Given the description of an element on the screen output the (x, y) to click on. 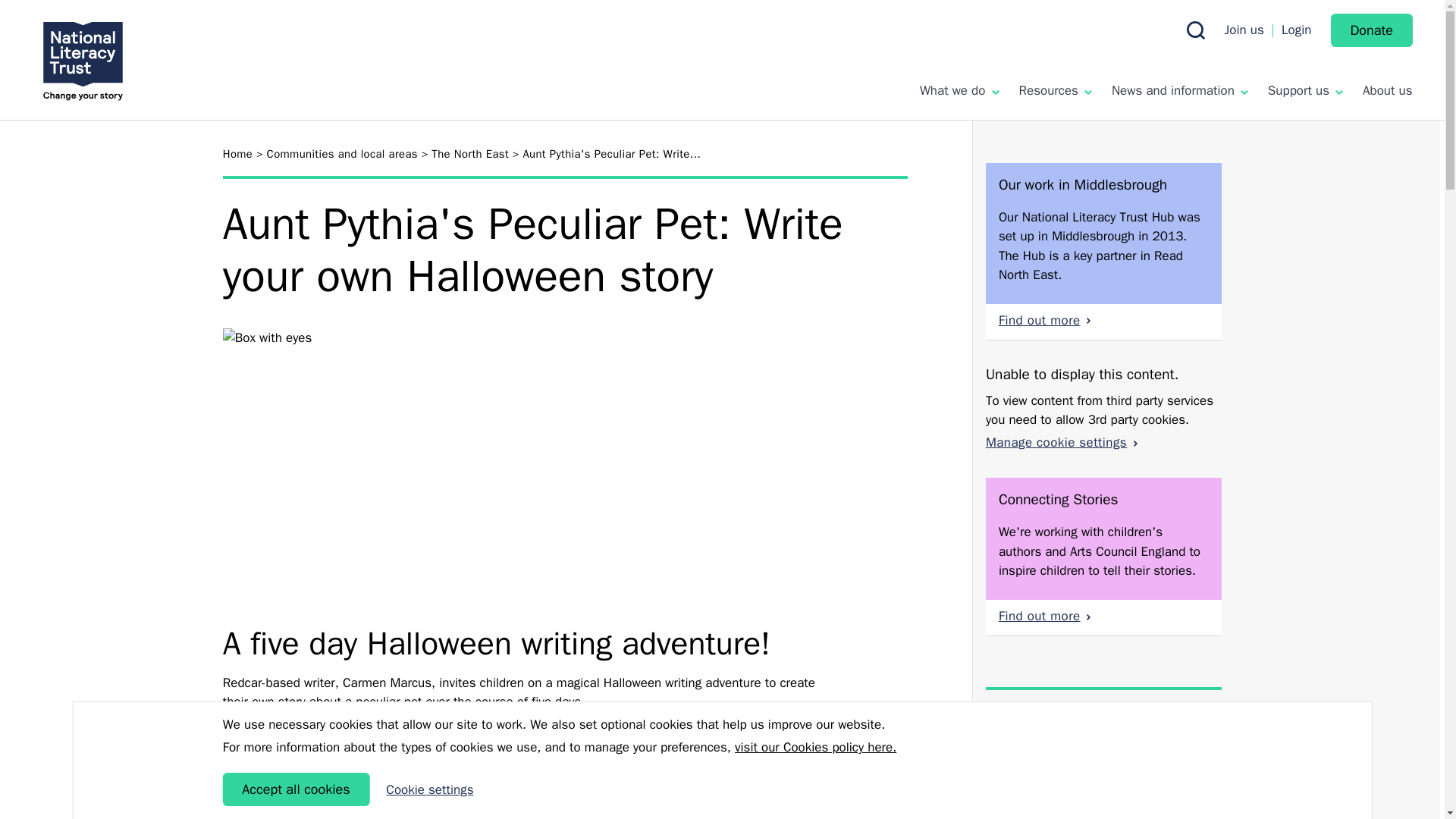
News and information (1179, 90)
Resources (1054, 90)
Join us (1243, 29)
What we do (959, 90)
visit our Cookies policy here. (815, 747)
Cookie settings (429, 790)
Login (1296, 29)
Accept all cookies (295, 789)
Donate (1371, 29)
